Given the description of an element on the screen output the (x, y) to click on. 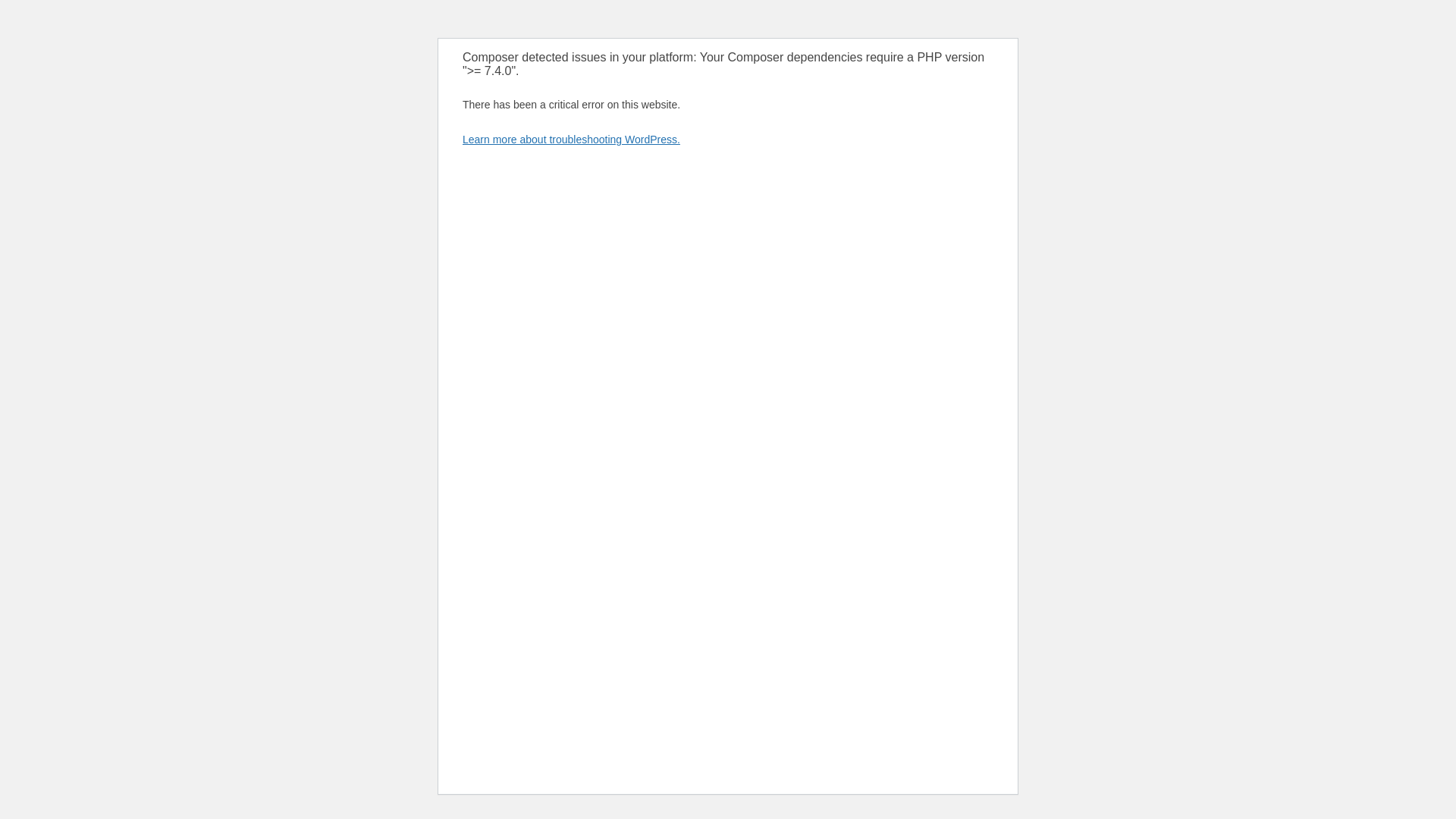
Learn more about troubleshooting WordPress. (571, 139)
